Given the description of an element on the screen output the (x, y) to click on. 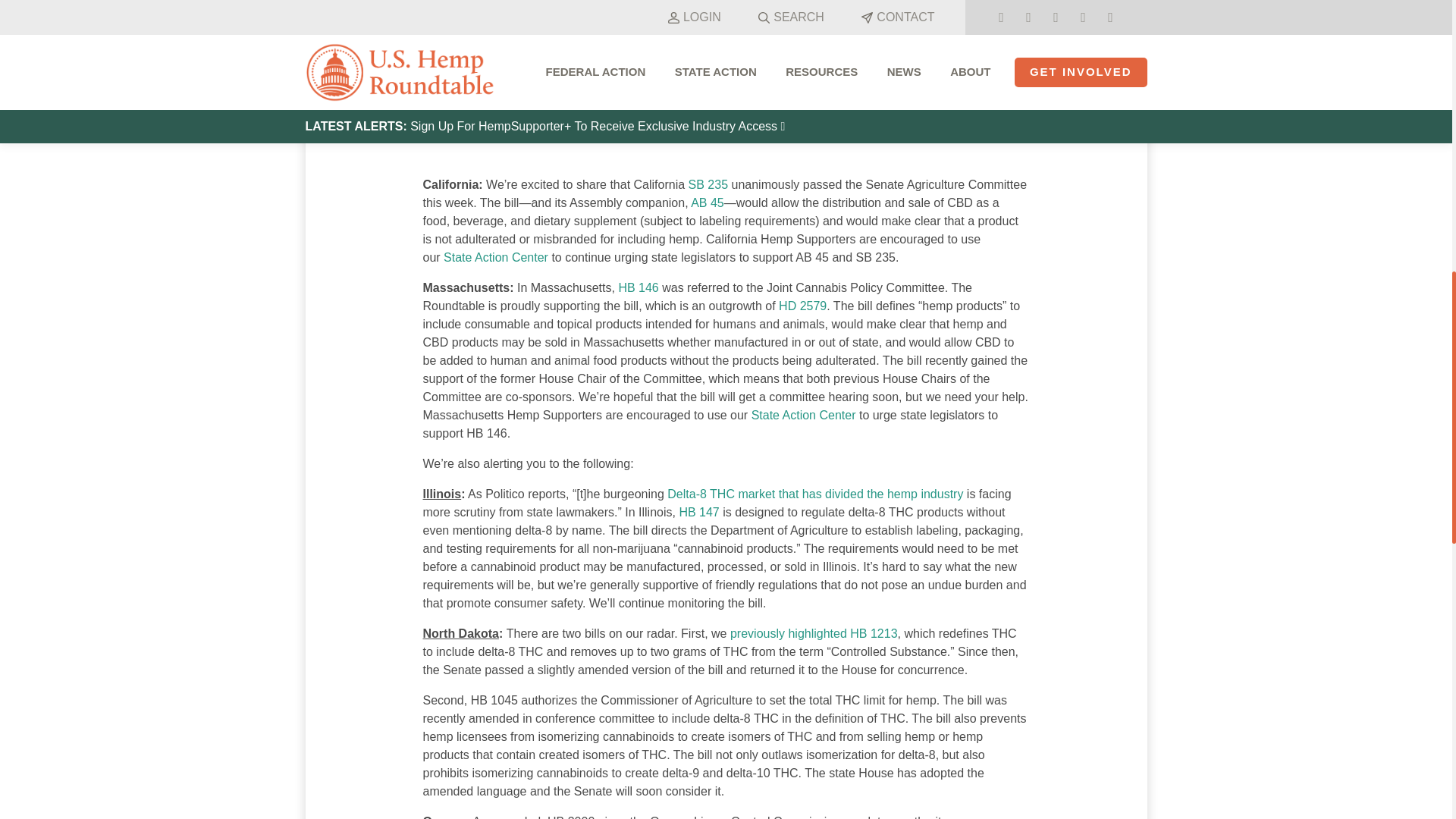
HD 2579 (802, 305)
State Action Center (803, 414)
State Action Center (496, 256)
Opens in new tab (802, 305)
Opens in new tab (814, 493)
HB 1213 (872, 633)
Delta-8 THC market that has divided the hemp industry (814, 493)
HB 146 (637, 287)
SB 235 (708, 184)
HB 147 (698, 512)
AB 45 (706, 202)
Opens in new tab (637, 287)
previously highlighted (788, 633)
